Given the description of an element on the screen output the (x, y) to click on. 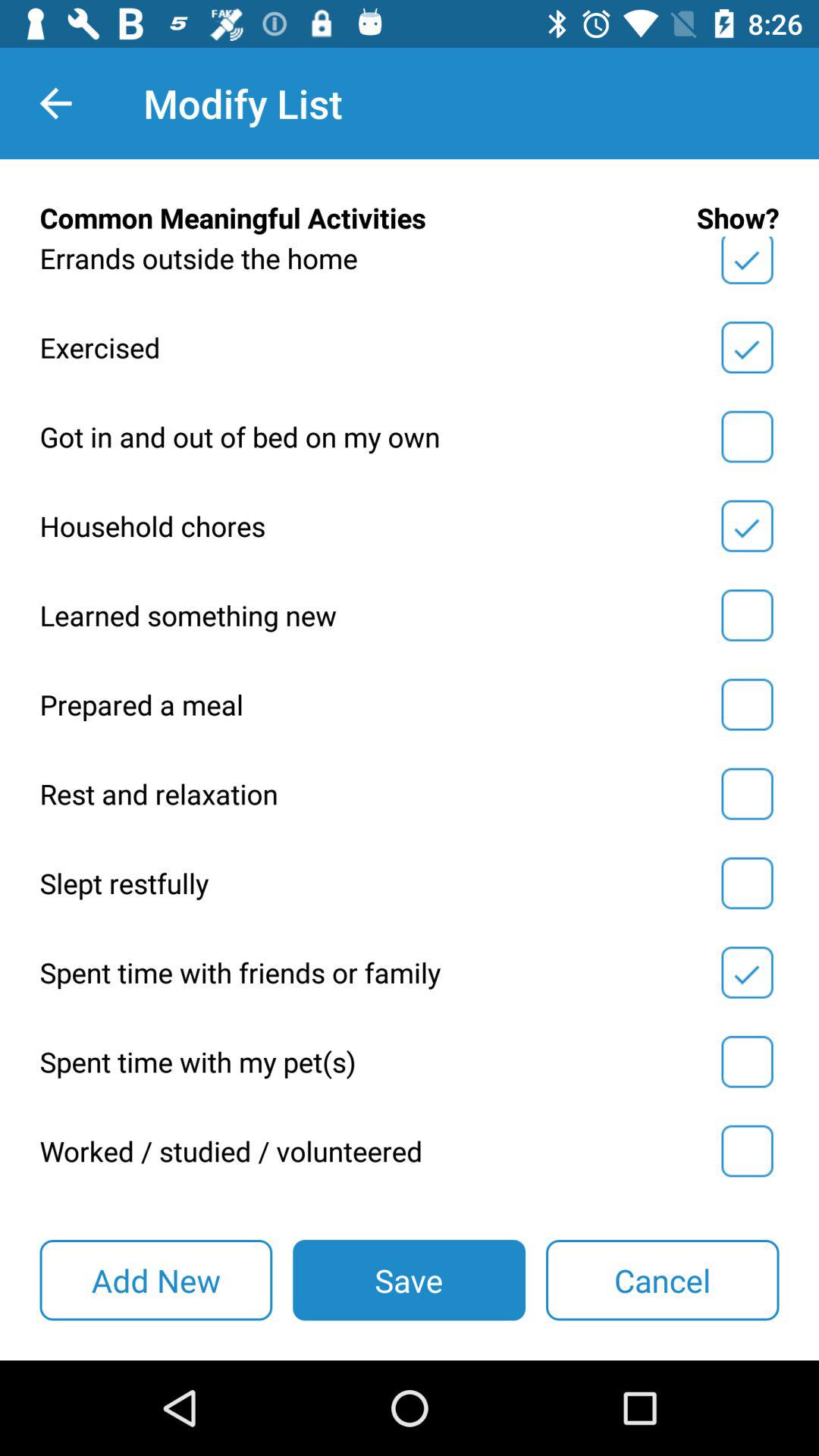
open the icon next to the save icon (155, 1279)
